Given the description of an element on the screen output the (x, y) to click on. 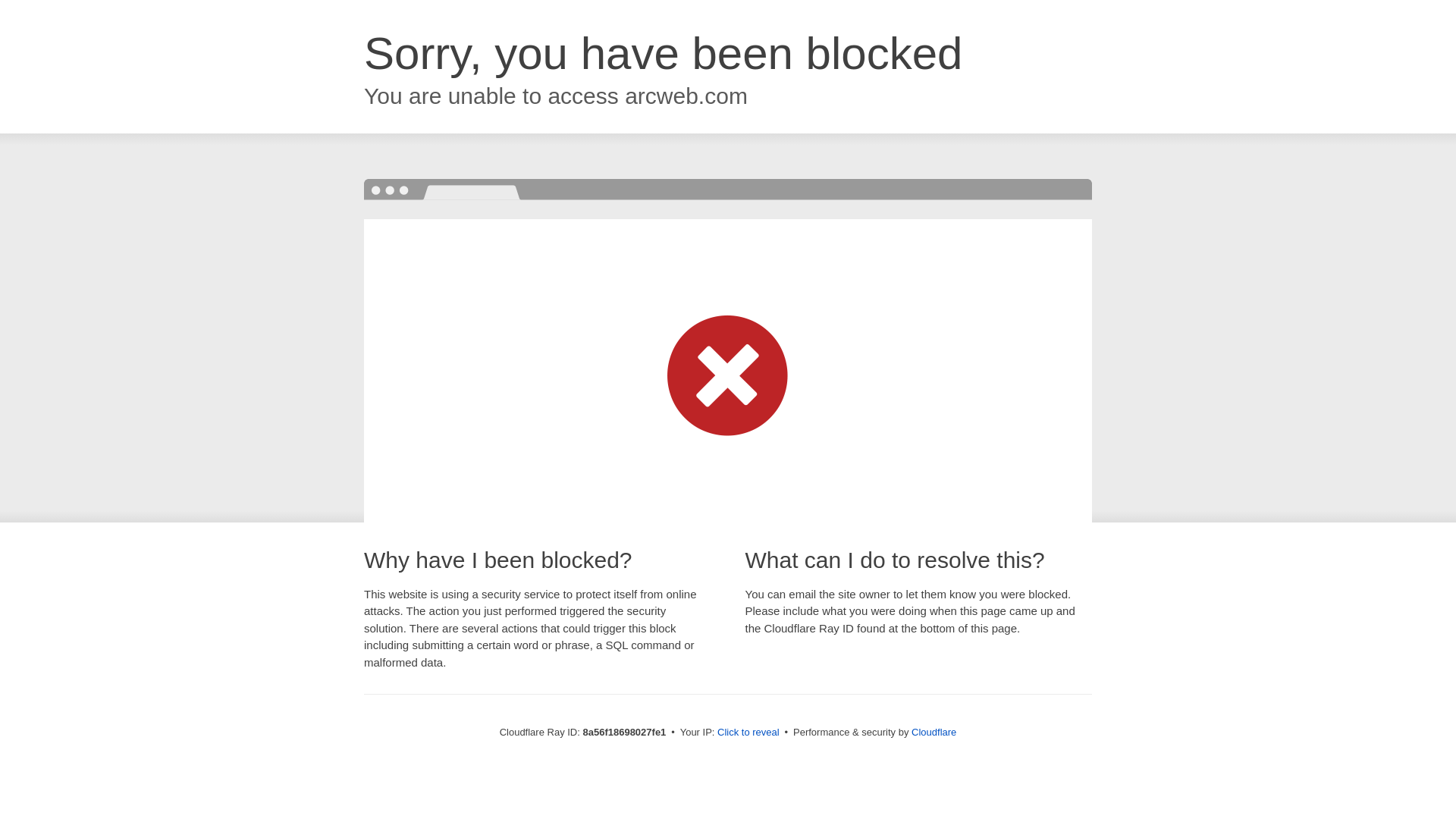
Cloudflare (933, 731)
Click to reveal (747, 732)
